Given the description of an element on the screen output the (x, y) to click on. 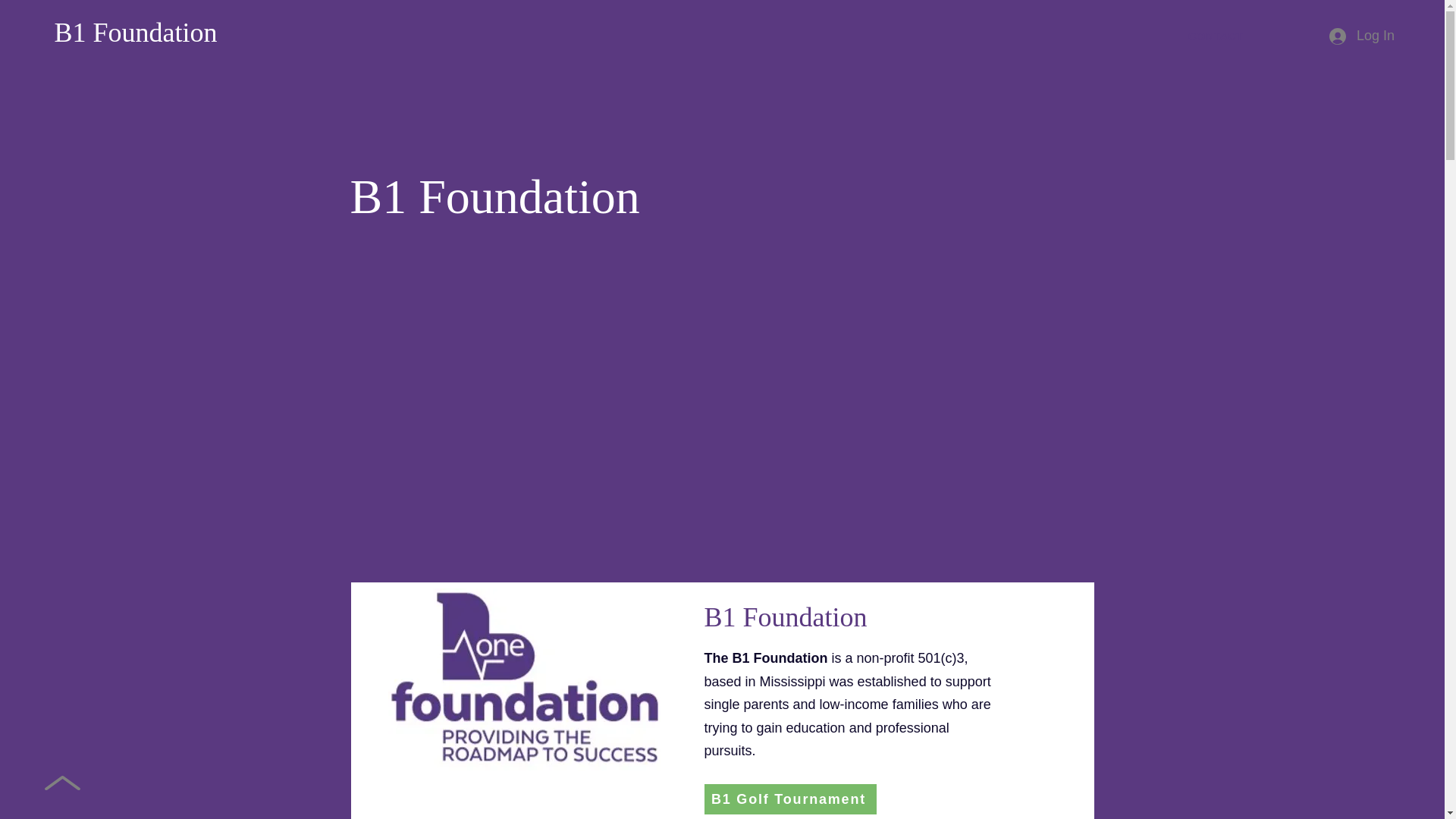
B1 Golf Tournament (789, 798)
B1 Foundation (134, 32)
Log In (1362, 35)
